Given the description of an element on the screen output the (x, y) to click on. 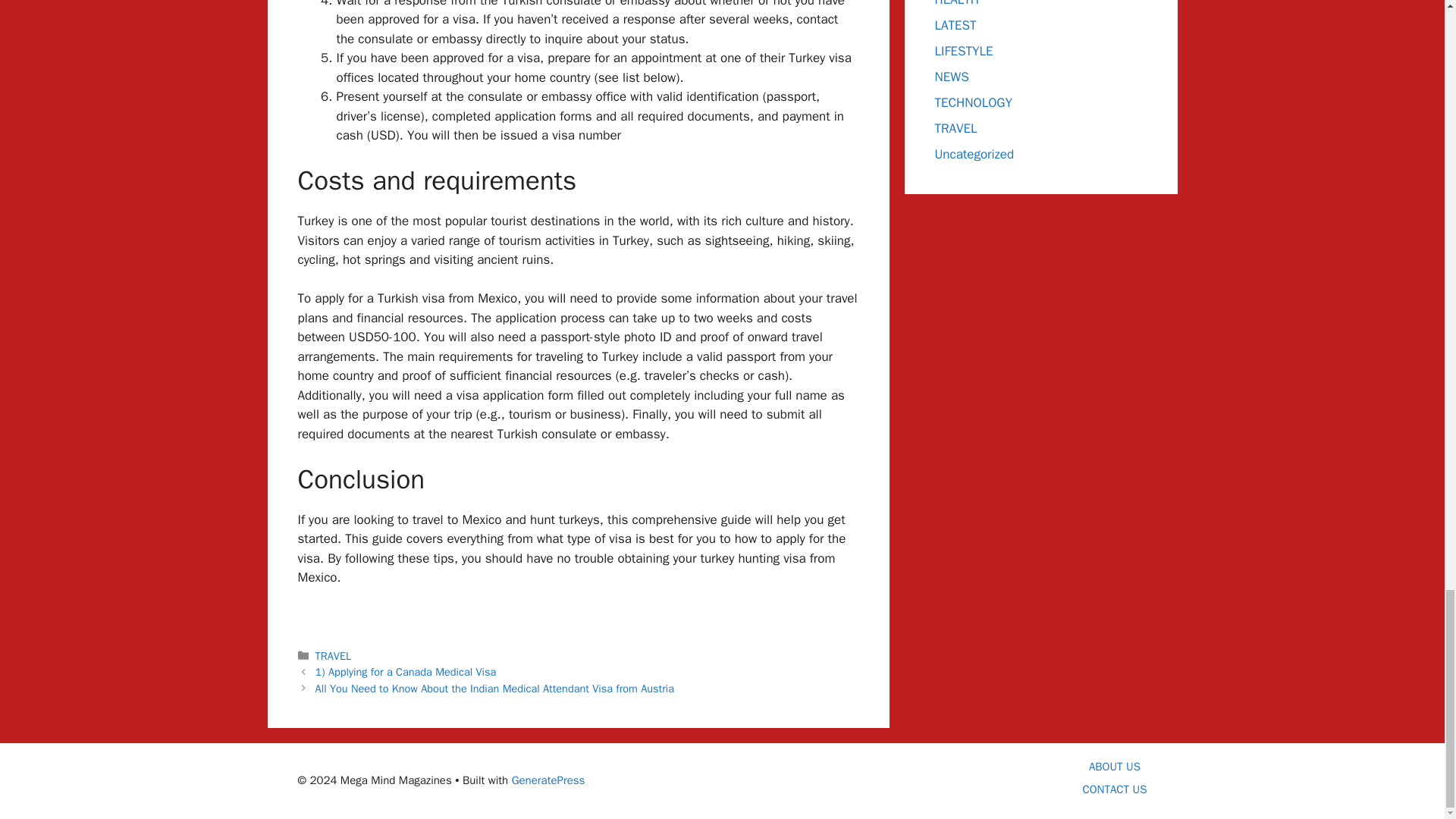
TRAVEL (333, 655)
